Given the description of an element on the screen output the (x, y) to click on. 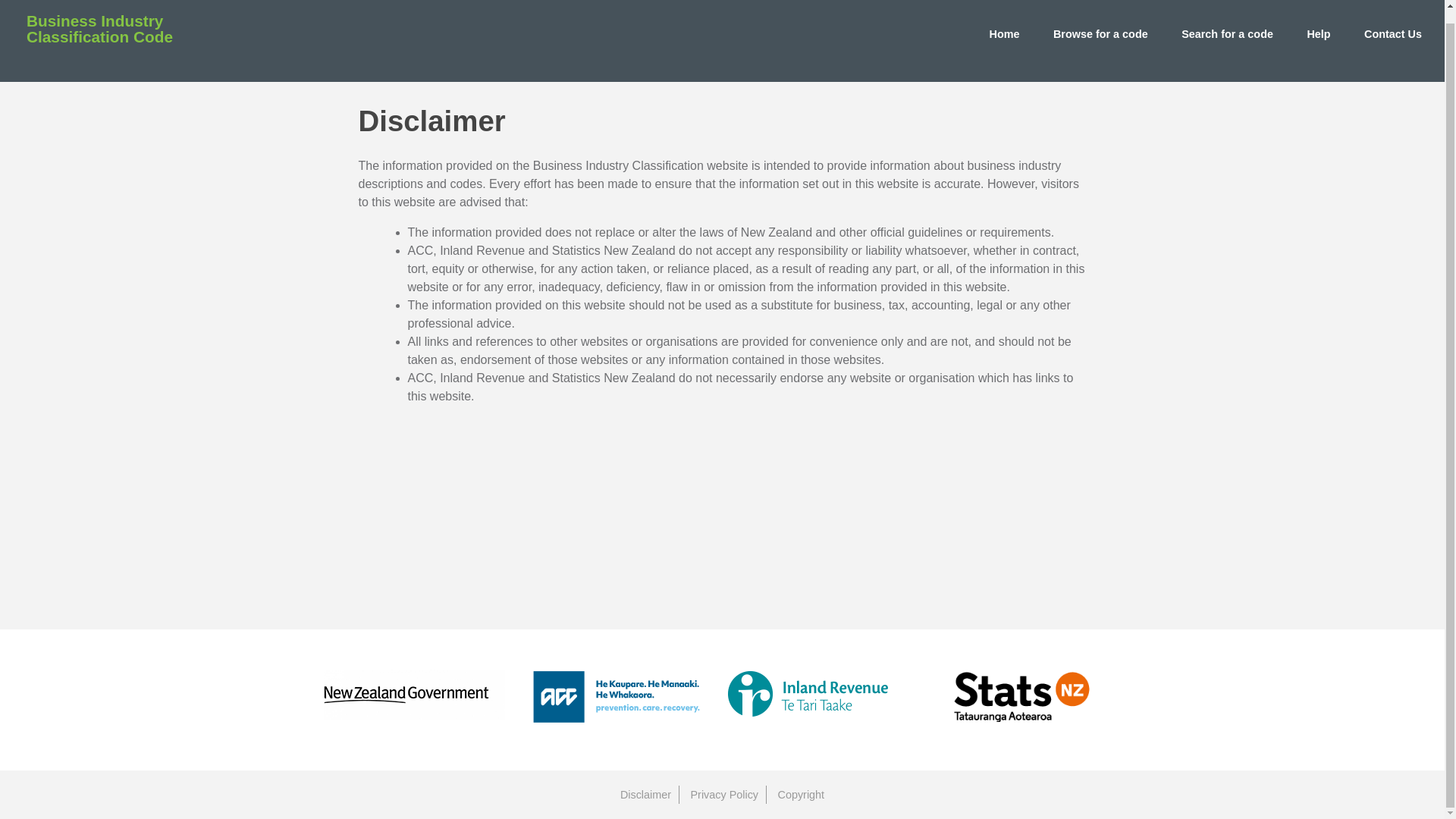
Disclaimer (645, 794)
Home (1003, 33)
Disclaimer (645, 794)
Privacy Policy (723, 794)
Browse for a code (1100, 33)
Contact Us (1393, 33)
Copyright (801, 794)
Business Industry Classification Code (126, 38)
Help (1318, 33)
Contact Us (1393, 33)
